Given the description of an element on the screen output the (x, y) to click on. 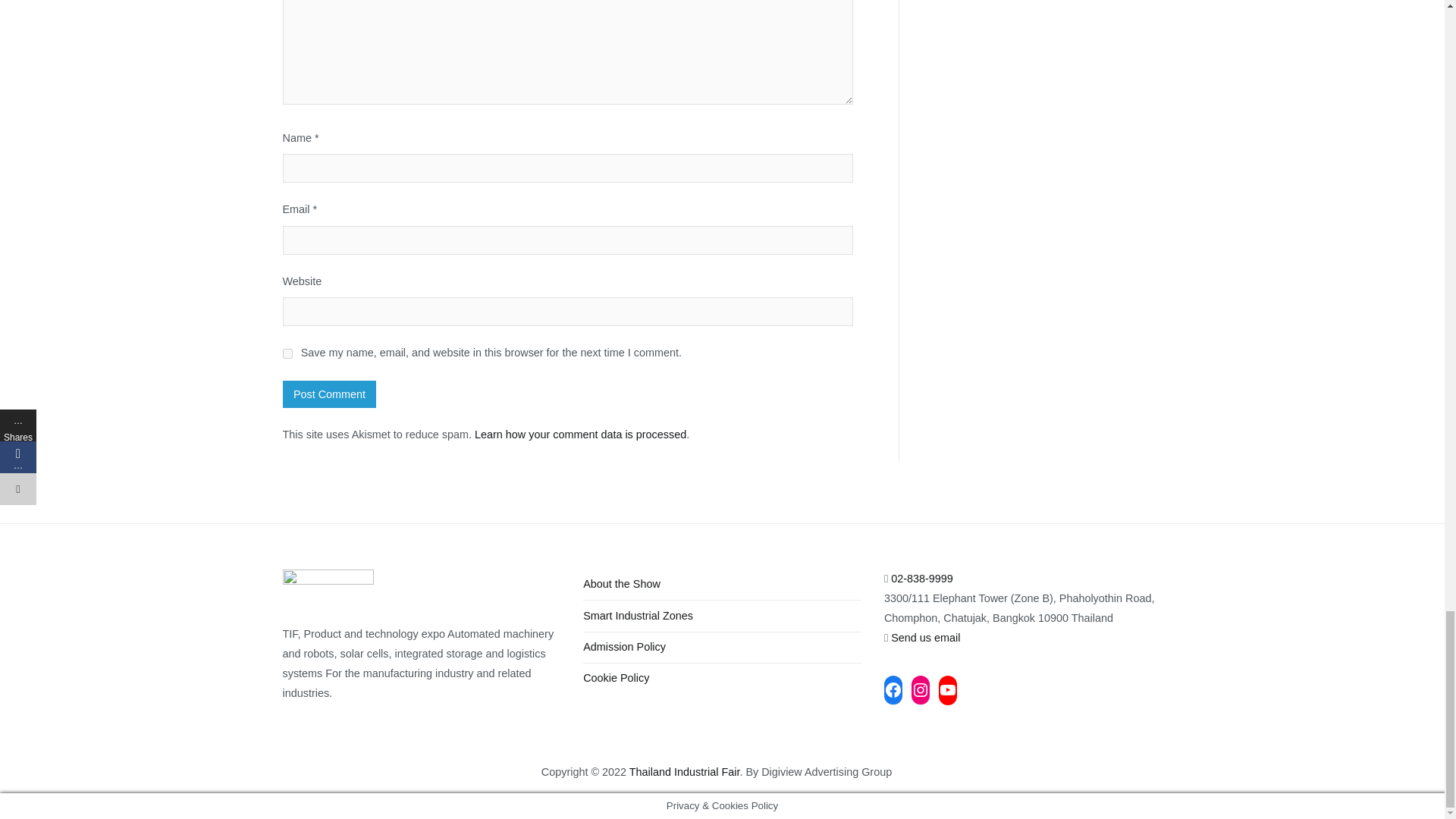
Post Comment (328, 393)
Website (683, 771)
yes (287, 353)
